Given the description of an element on the screen output the (x, y) to click on. 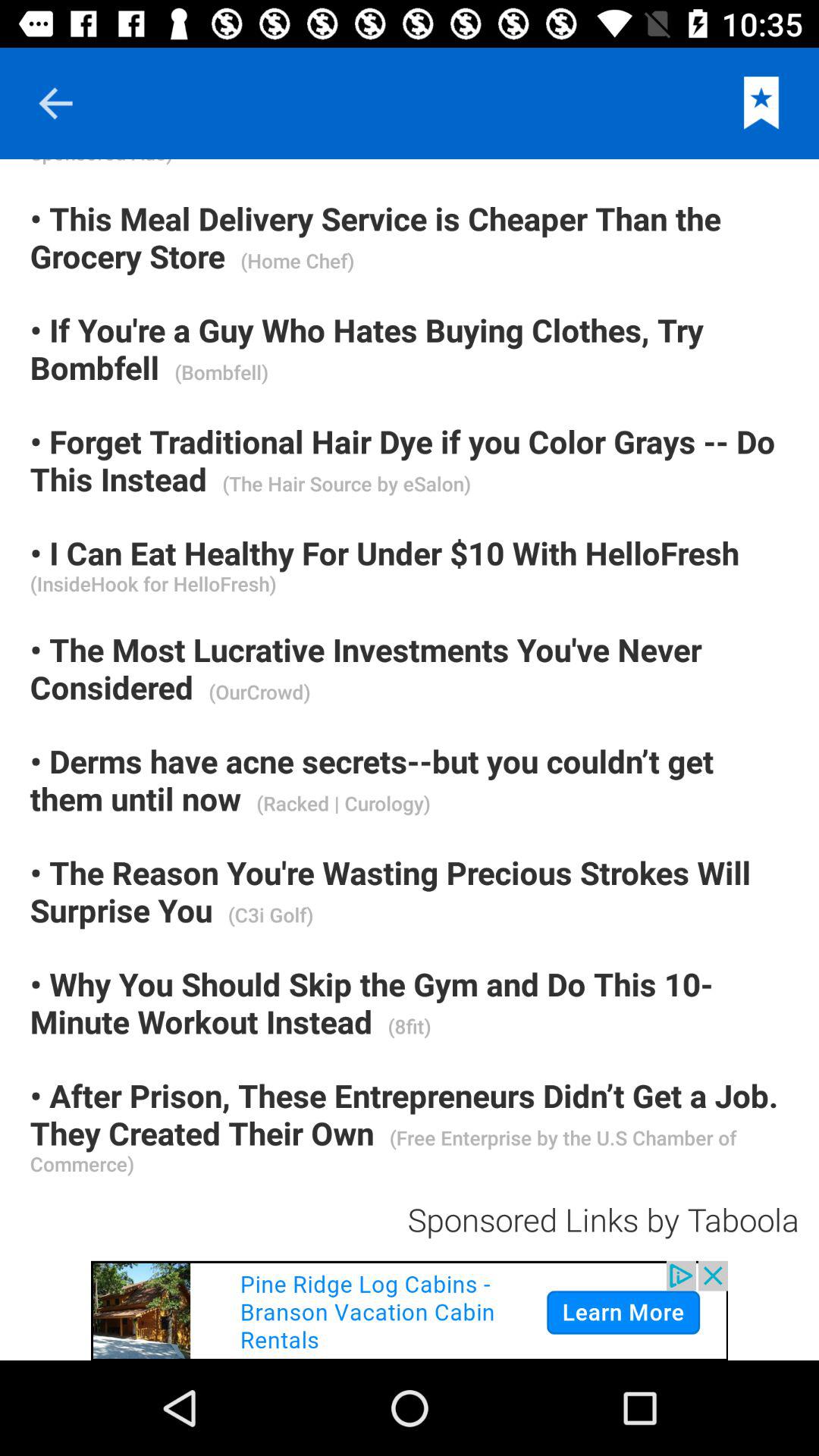
advertisement bar (409, 1310)
